Given the description of an element on the screen output the (x, y) to click on. 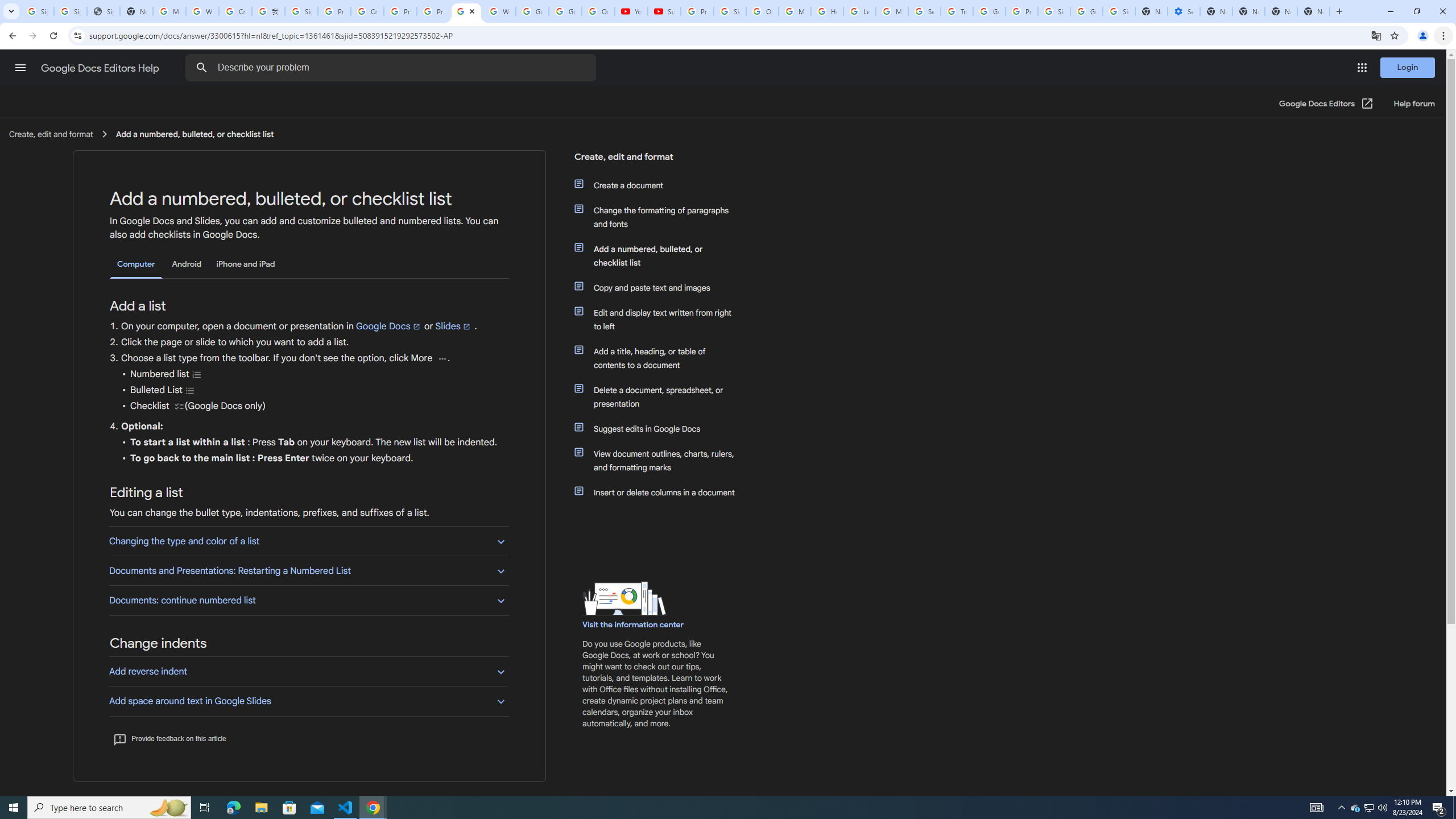
Sign in - Google Accounts (1118, 11)
Add space around text in Google Slides (308, 700)
Main menu (20, 67)
New Tab (1313, 11)
Describe your problem (391, 67)
Sign in - Google Accounts (301, 11)
Suggest edits in Google Docs (661, 428)
YouTube (631, 11)
